Given the description of an element on the screen output the (x, y) to click on. 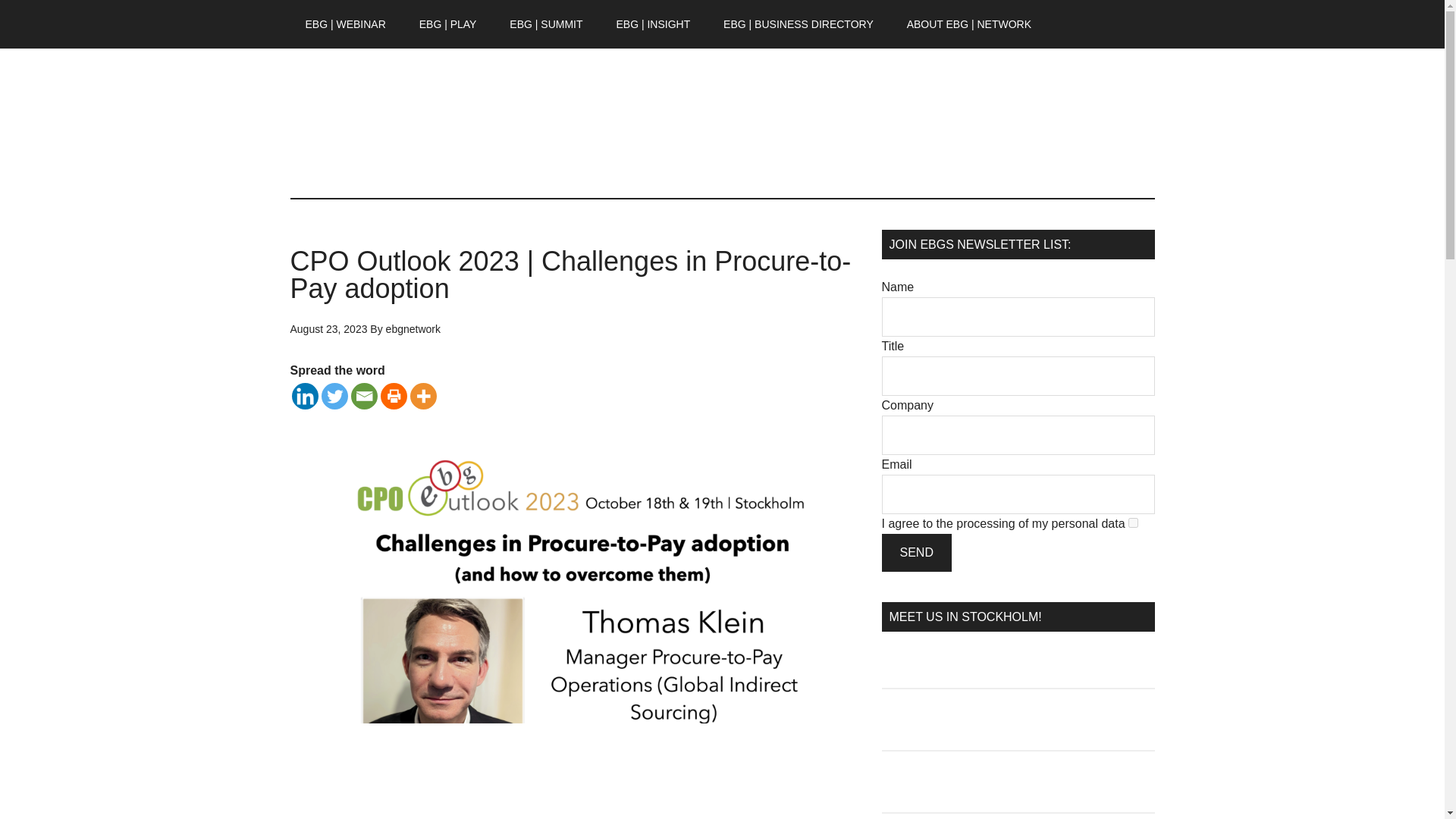
Send (915, 552)
Send (915, 552)
on (1133, 522)
Twitter (334, 396)
processing of my personal data (1040, 522)
Print (393, 396)
ebgnetwork (413, 328)
Linkedin (304, 396)
More (422, 396)
Email (363, 396)
